Given the description of an element on the screen output the (x, y) to click on. 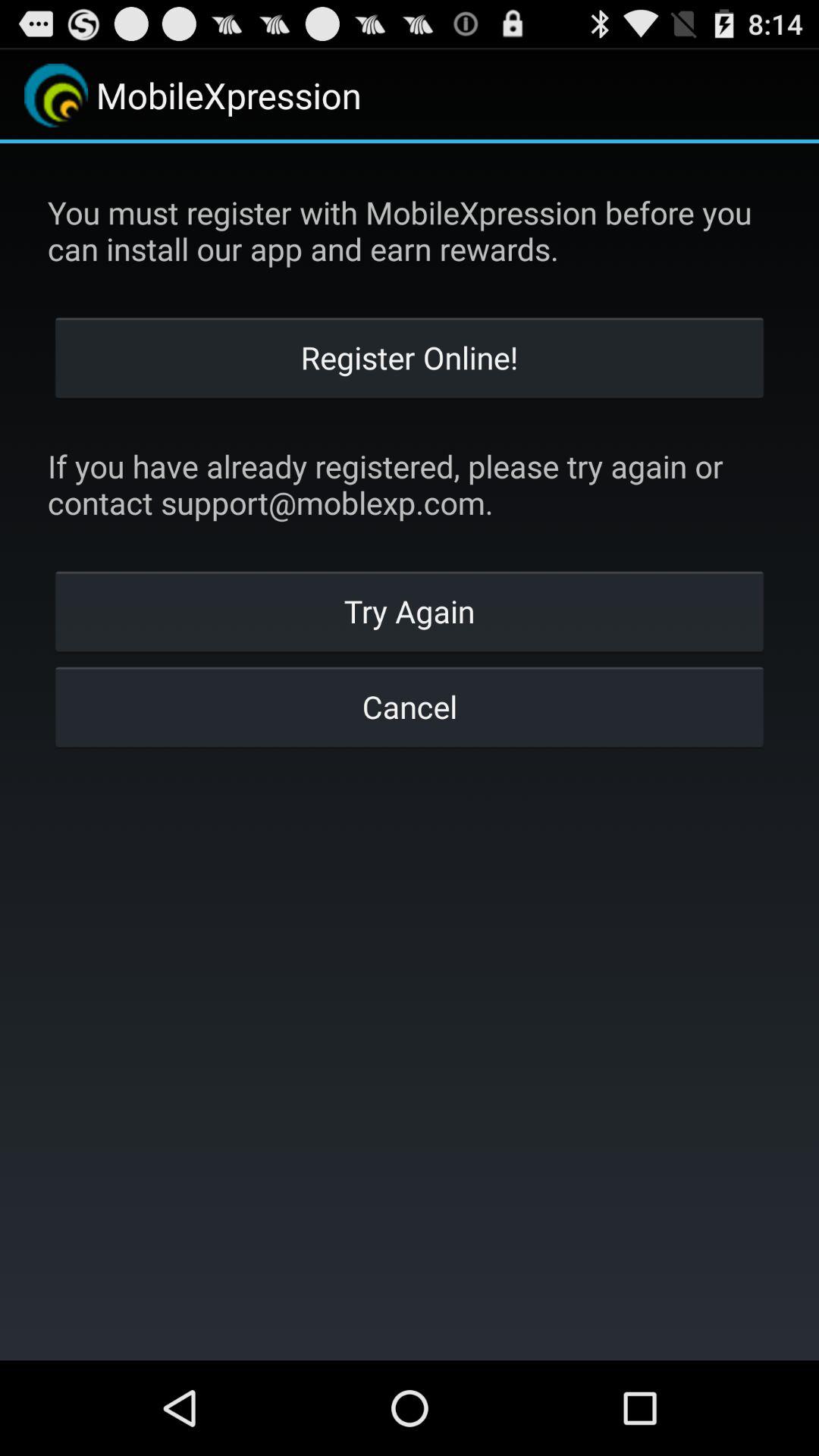
choose the item below you must register (409, 356)
